Given the description of an element on the screen output the (x, y) to click on. 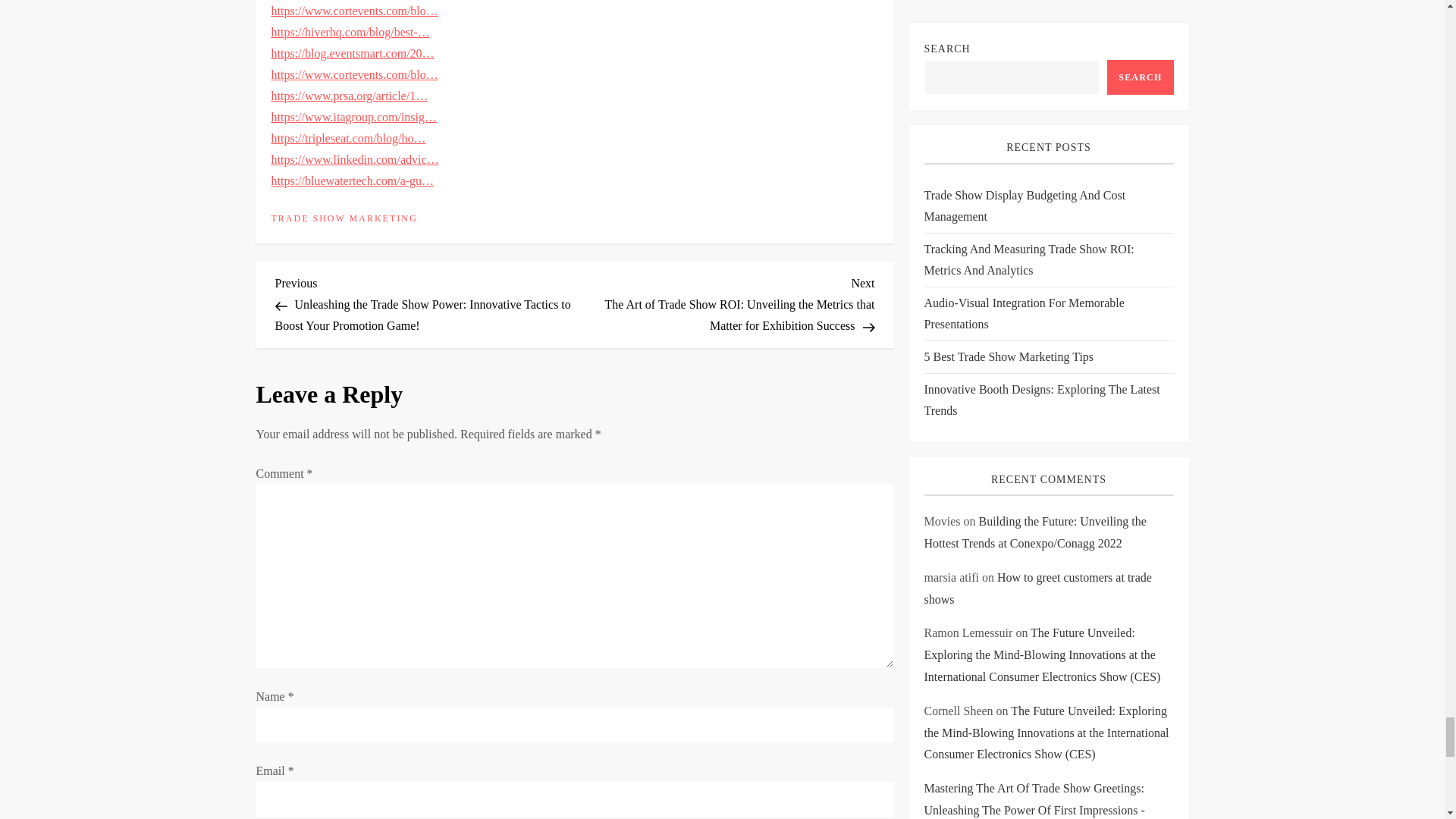
TRADE SHOW MARKETING (343, 218)
